Given the description of an element on the screen output the (x, y) to click on. 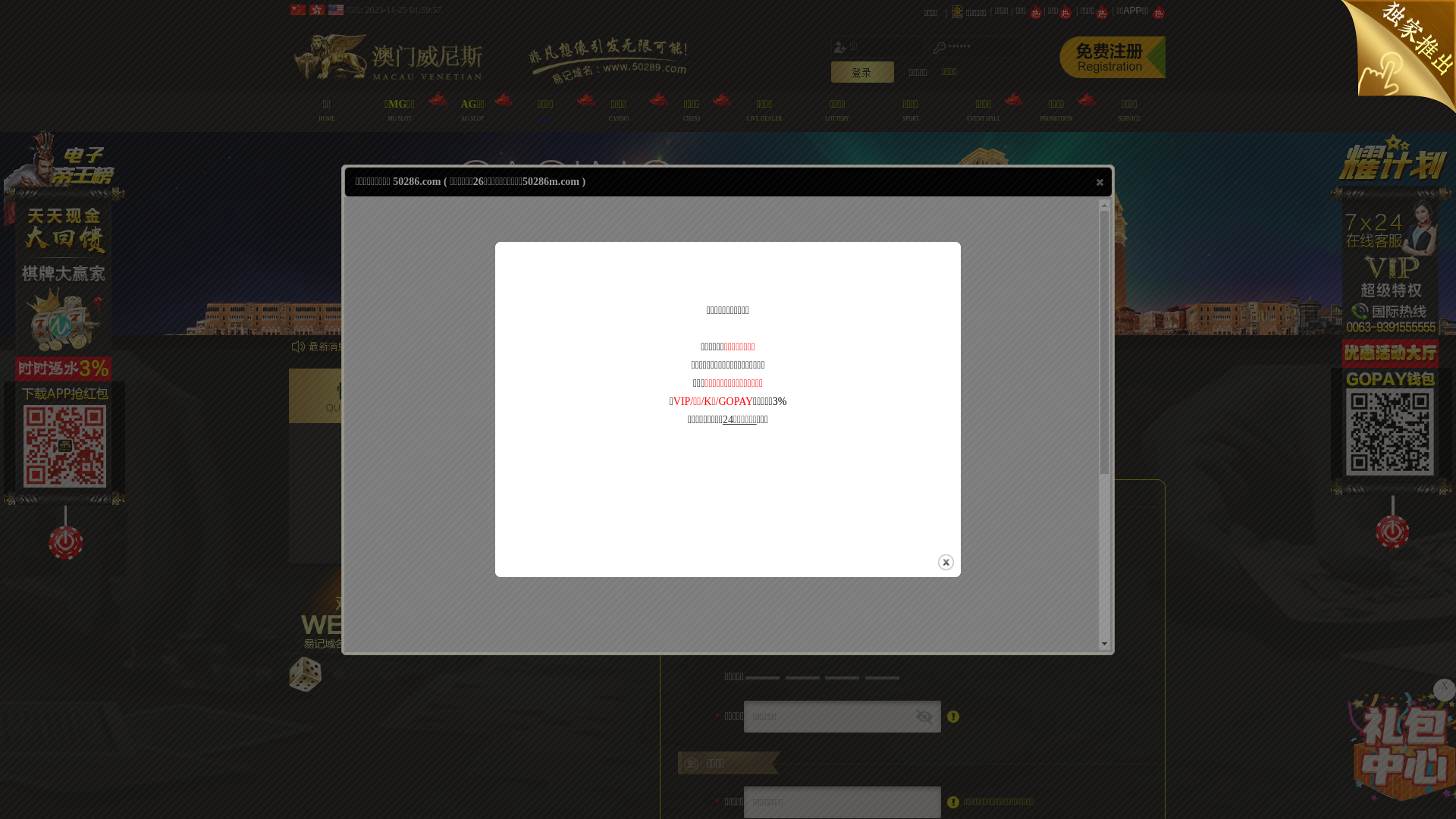
close Element type: text (1099, 181)
close Element type: text (945, 561)
